Given the description of an element on the screen output the (x, y) to click on. 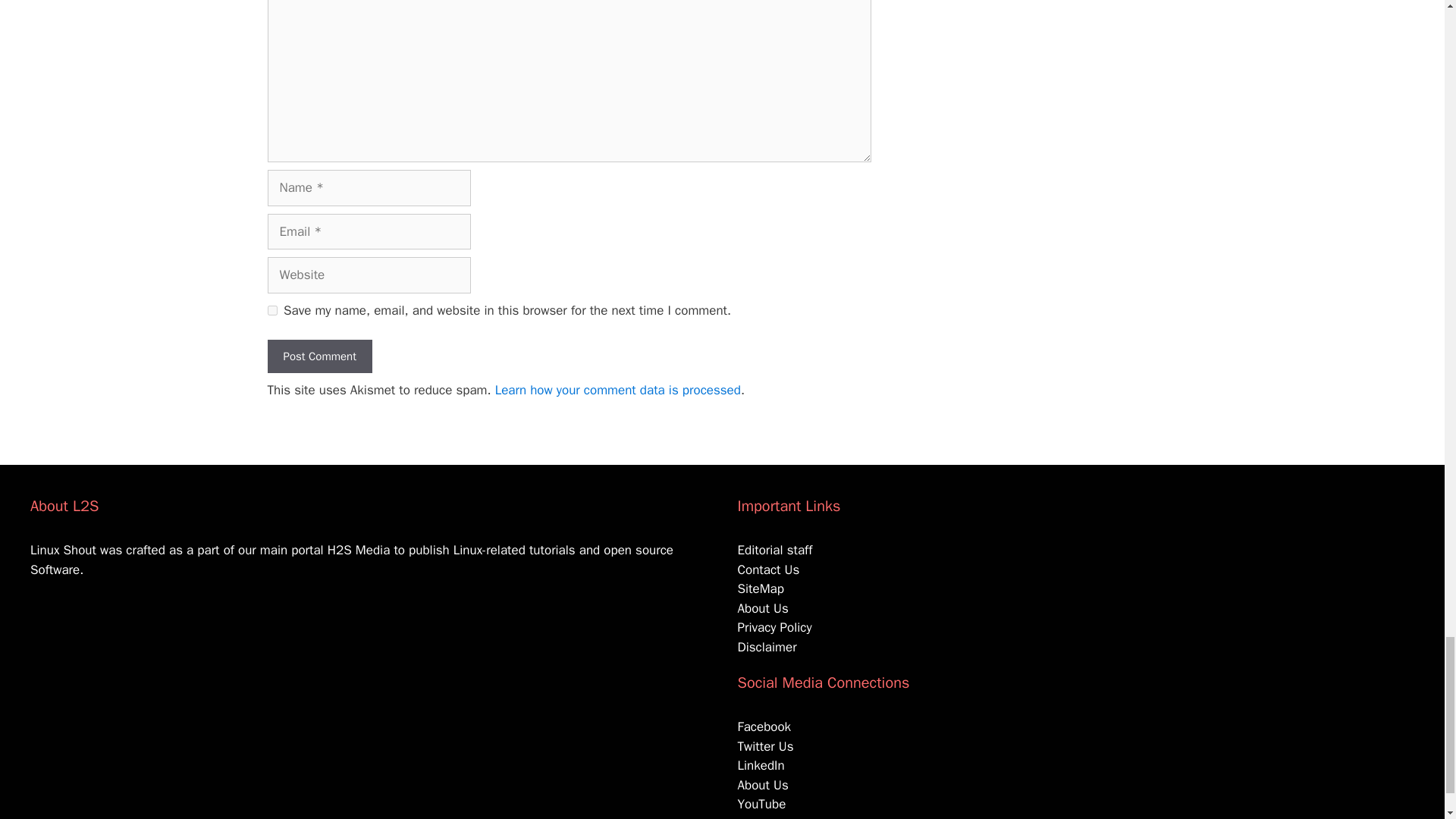
yes (271, 310)
Post Comment (318, 356)
